Given the description of an element on the screen output the (x, y) to click on. 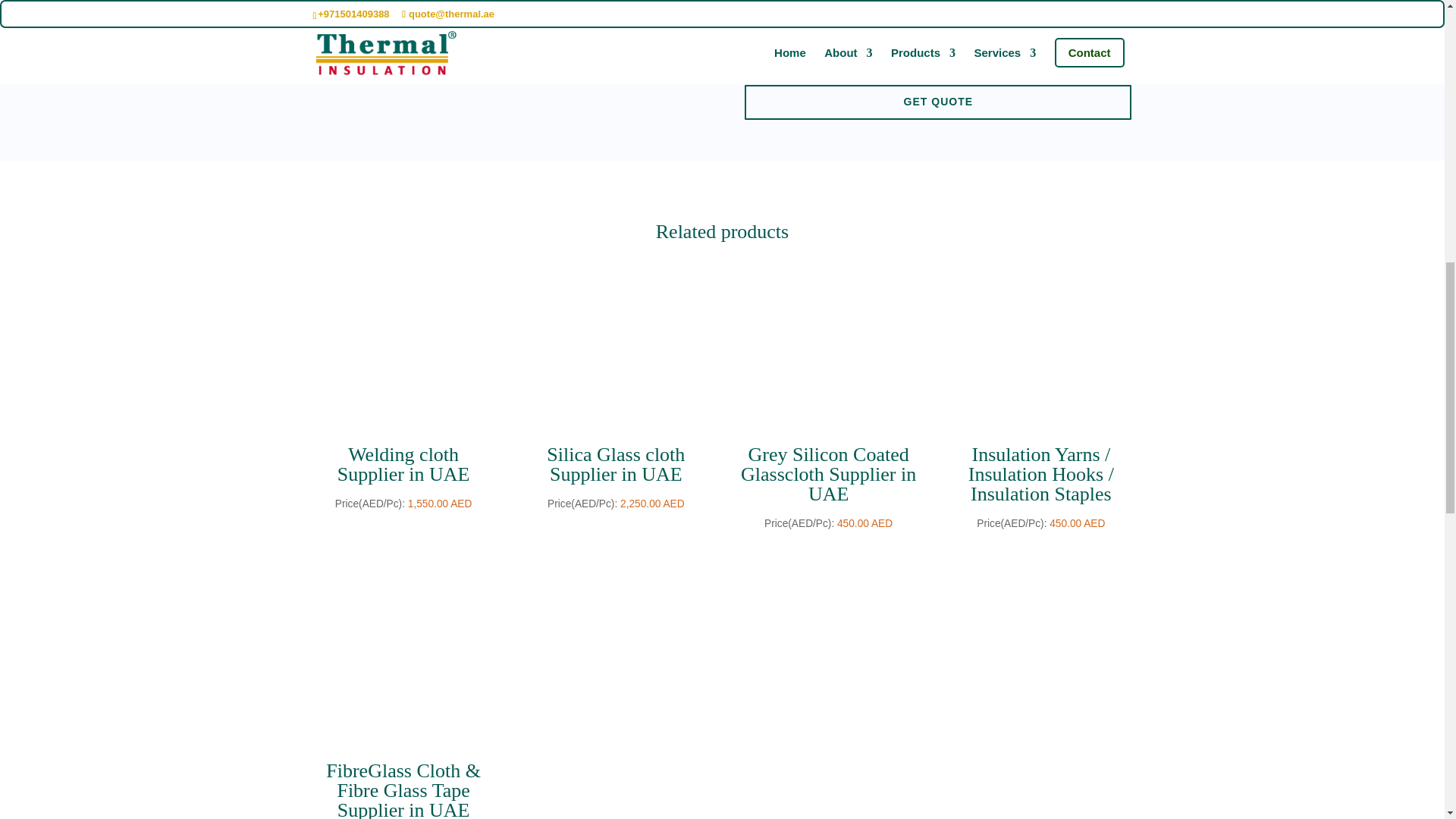
1 (813, 13)
GET QUOTE (937, 102)
Qty (813, 13)
Add to cart (797, 49)
- (781, 13)
